Given the description of an element on the screen output the (x, y) to click on. 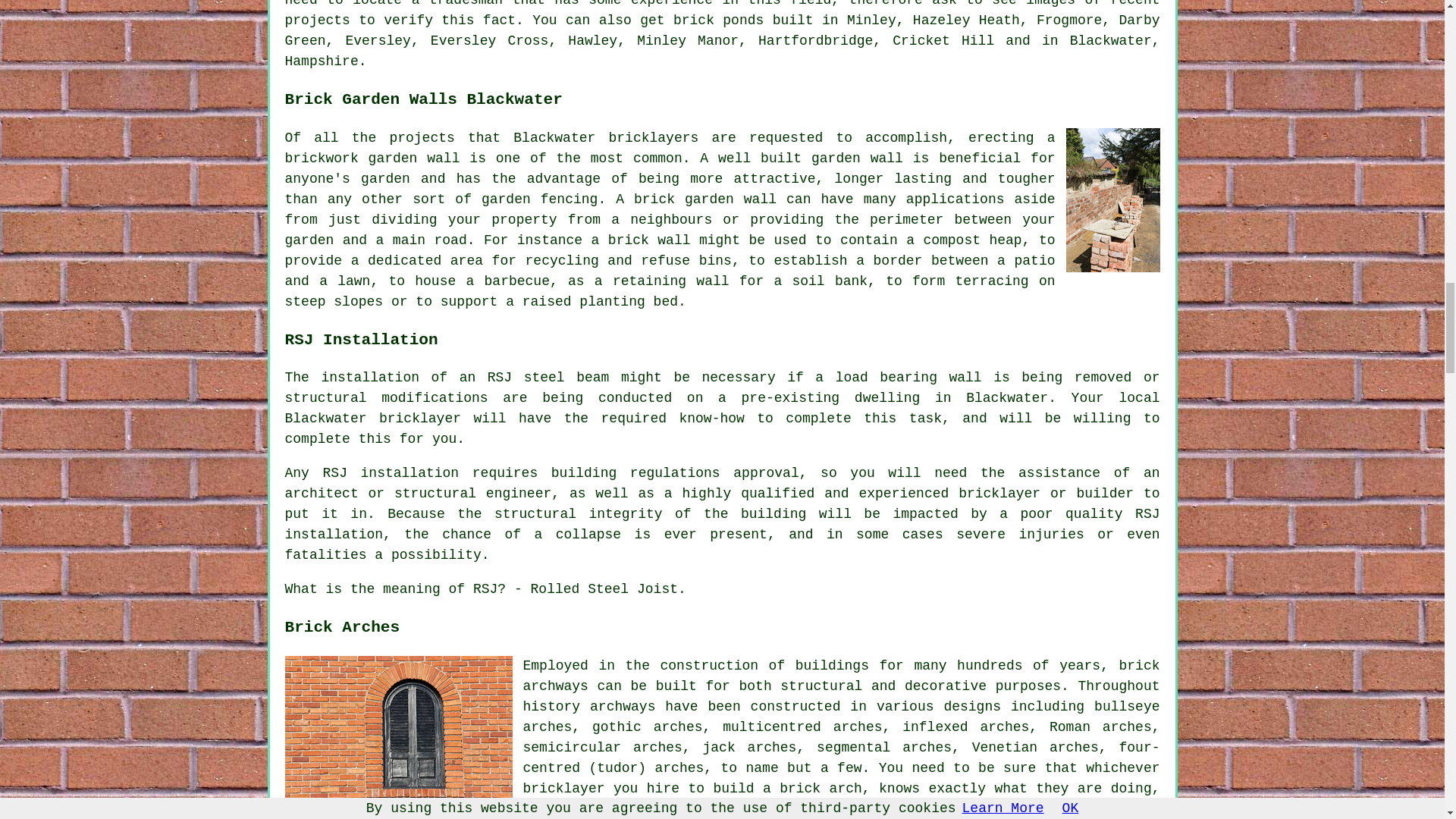
Garden Walls Blackwater Hampshire (1112, 199)
Brick Arches Blackwater Hampshire (398, 730)
